Given the description of an element on the screen output the (x, y) to click on. 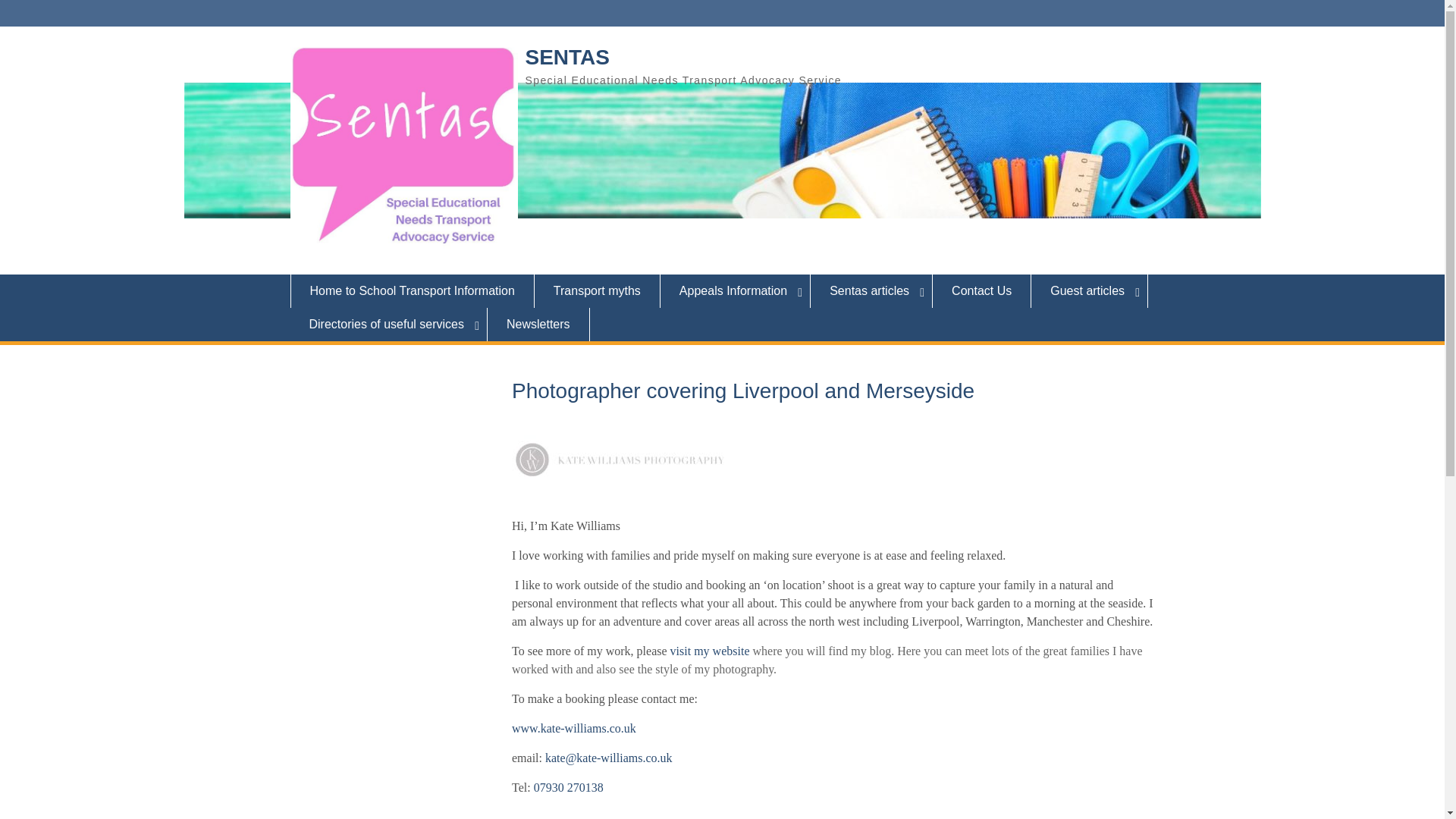
SENTAS (567, 56)
Appeals Information (735, 290)
Directories of useful services (388, 324)
Guest articles (1089, 290)
Home to School Transport Information (411, 290)
Transport myths (597, 290)
Sentas articles (871, 290)
Contact Us (981, 290)
